Given the description of an element on the screen output the (x, y) to click on. 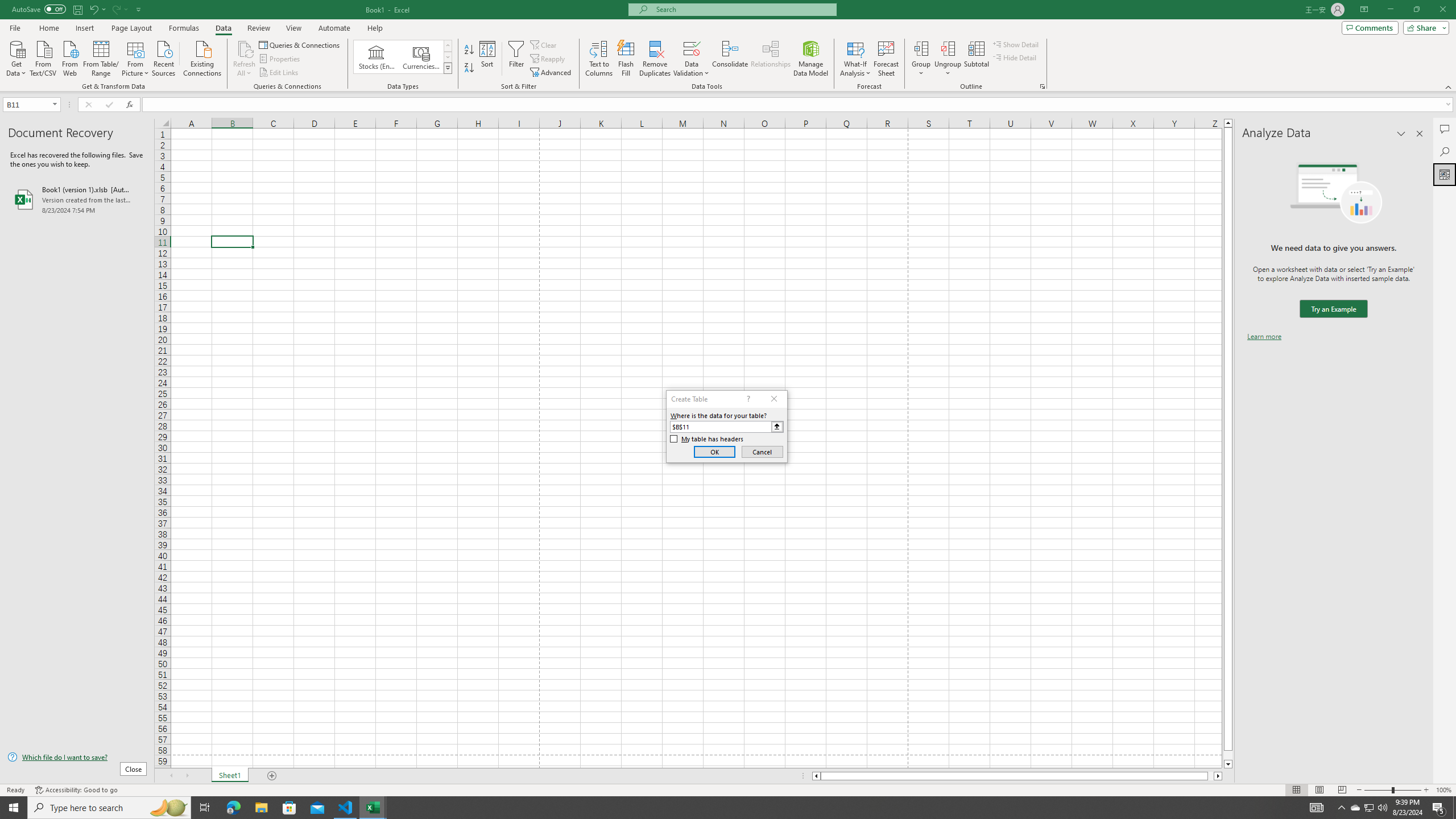
Row up (448, 45)
Search (1444, 151)
What-If Analysis (855, 58)
Restore Down (1416, 9)
Group and Outline Settings (1042, 85)
Task Pane Options (1400, 133)
From Text/CSV (43, 57)
Text to Columns... (598, 58)
Learn more (1264, 336)
